Given the description of an element on the screen output the (x, y) to click on. 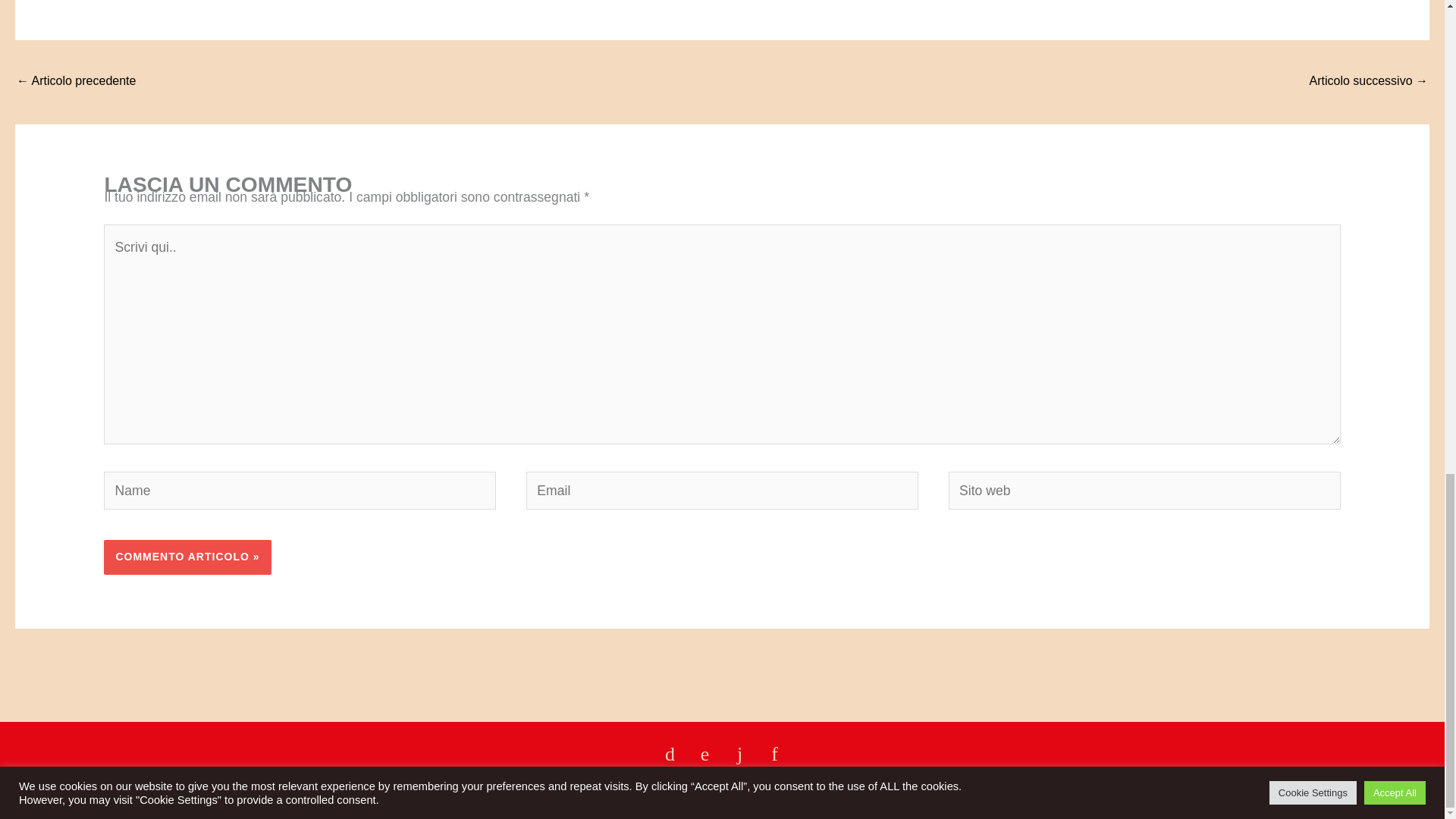
Informativa sulla privacy (1364, 788)
Haya los novios sobre bailoteo magnnifica hoy por hoy mismo (75, 81)
Contattaci (46, 788)
The Fanfic Sex Trope That Caught A Plundering Ai Red-handed (1368, 81)
